Given the description of an element on the screen output the (x, y) to click on. 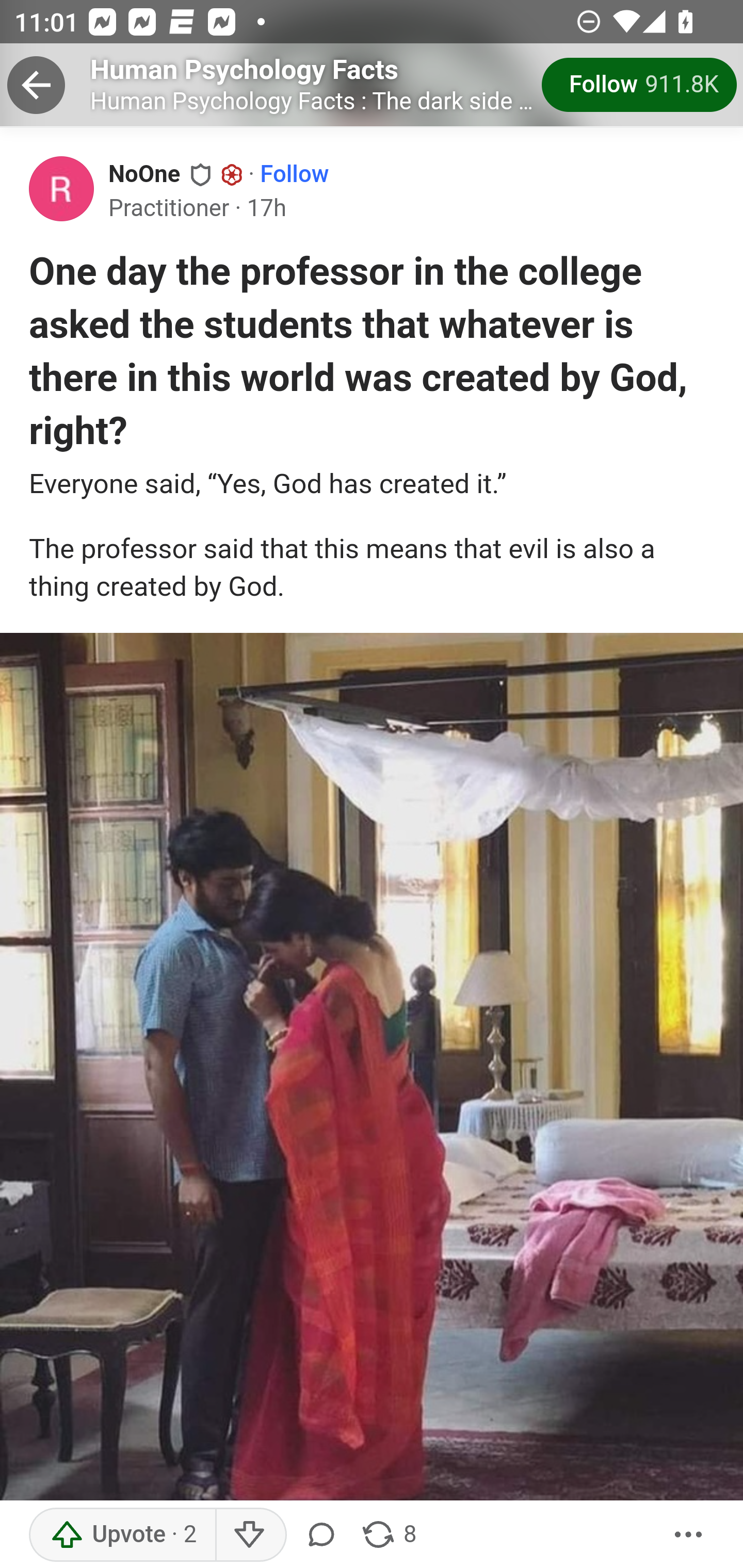
Human Psychology Facts (244, 68)
Follow 911.8K (639, 85)
Profile photo for NoOne (61, 188)
NoOne NoOne     Space subscriber (175, 173)
Follow (294, 174)
Space subscriber (231, 175)
Upvote (122, 1534)
Downvote (249, 1534)
Comment (324, 1534)
8 shares (387, 1534)
More (688, 1534)
